Given the description of an element on the screen output the (x, y) to click on. 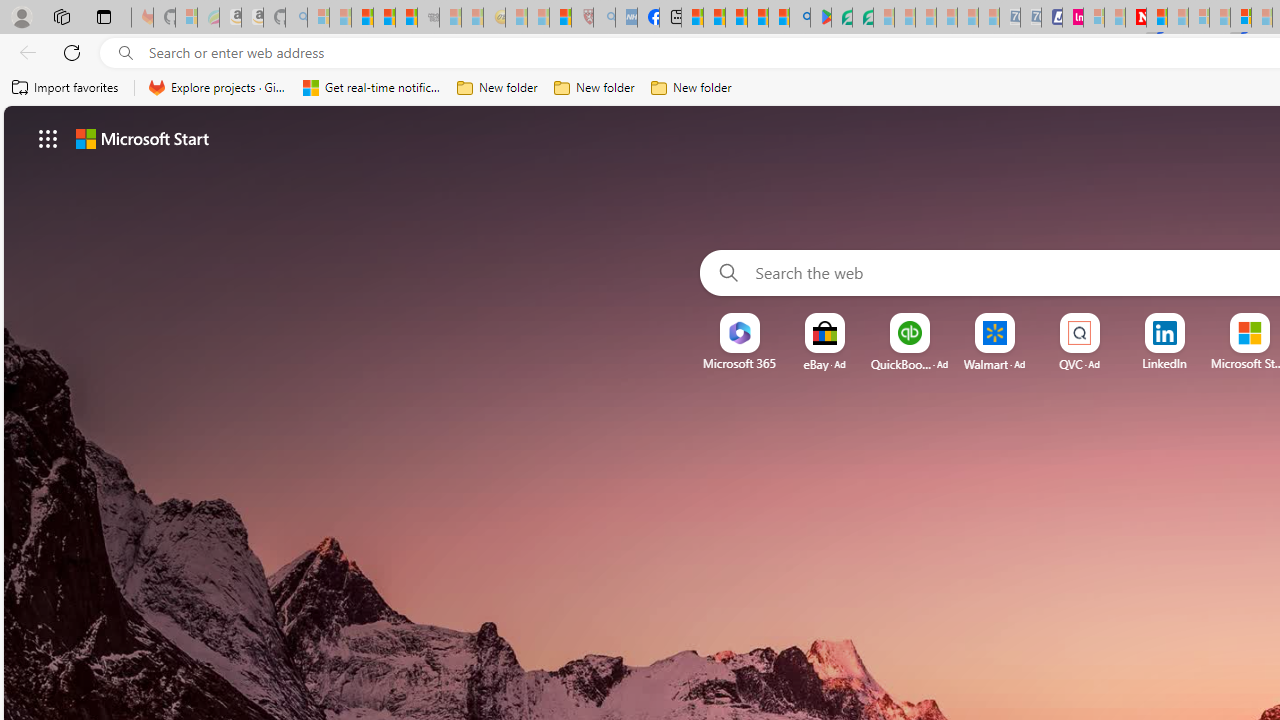
The Weather Channel - MSN (362, 17)
New folder (691, 88)
Microsoft-Report a Concern to Bing - Sleeping (186, 17)
Microsoft account | Privacy - Sleeping (1094, 17)
